Given the description of an element on the screen output the (x, y) to click on. 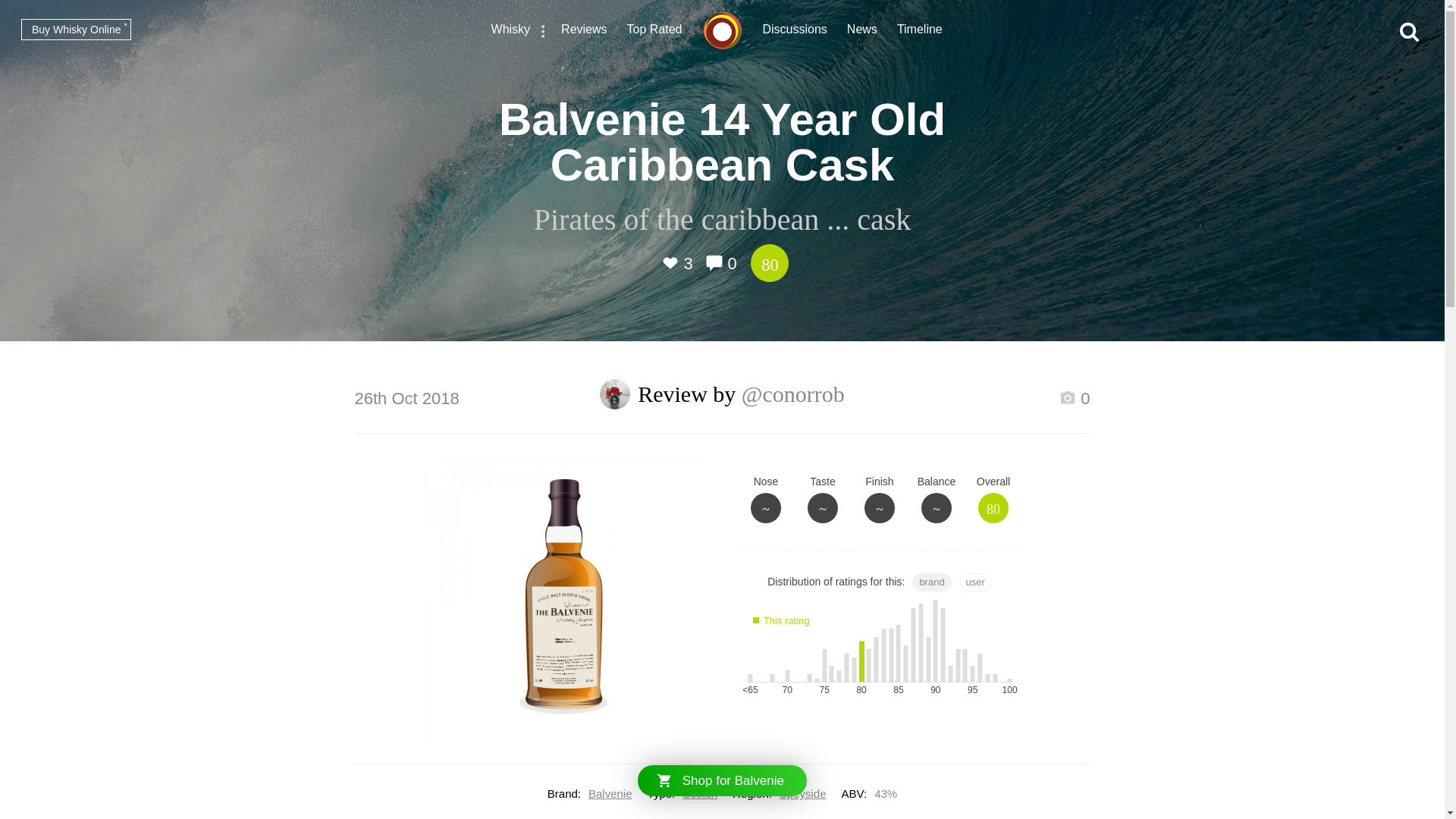
Whisky (511, 31)
Buy Whisky Online (76, 29)
Recent actvity timeline (919, 31)
Top rated whisky (654, 31)
Timeline (919, 31)
Whisky Connosr (721, 30)
Reviews (583, 31)
Top Rated (654, 31)
Scotch (699, 793)
Latest whisky news (862, 31)
Speyside (802, 793)
Whisky discussions (794, 31)
Whisky reviews (583, 31)
News (862, 31)
Search this site (1408, 31)
